Given the description of an element on the screen output the (x, y) to click on. 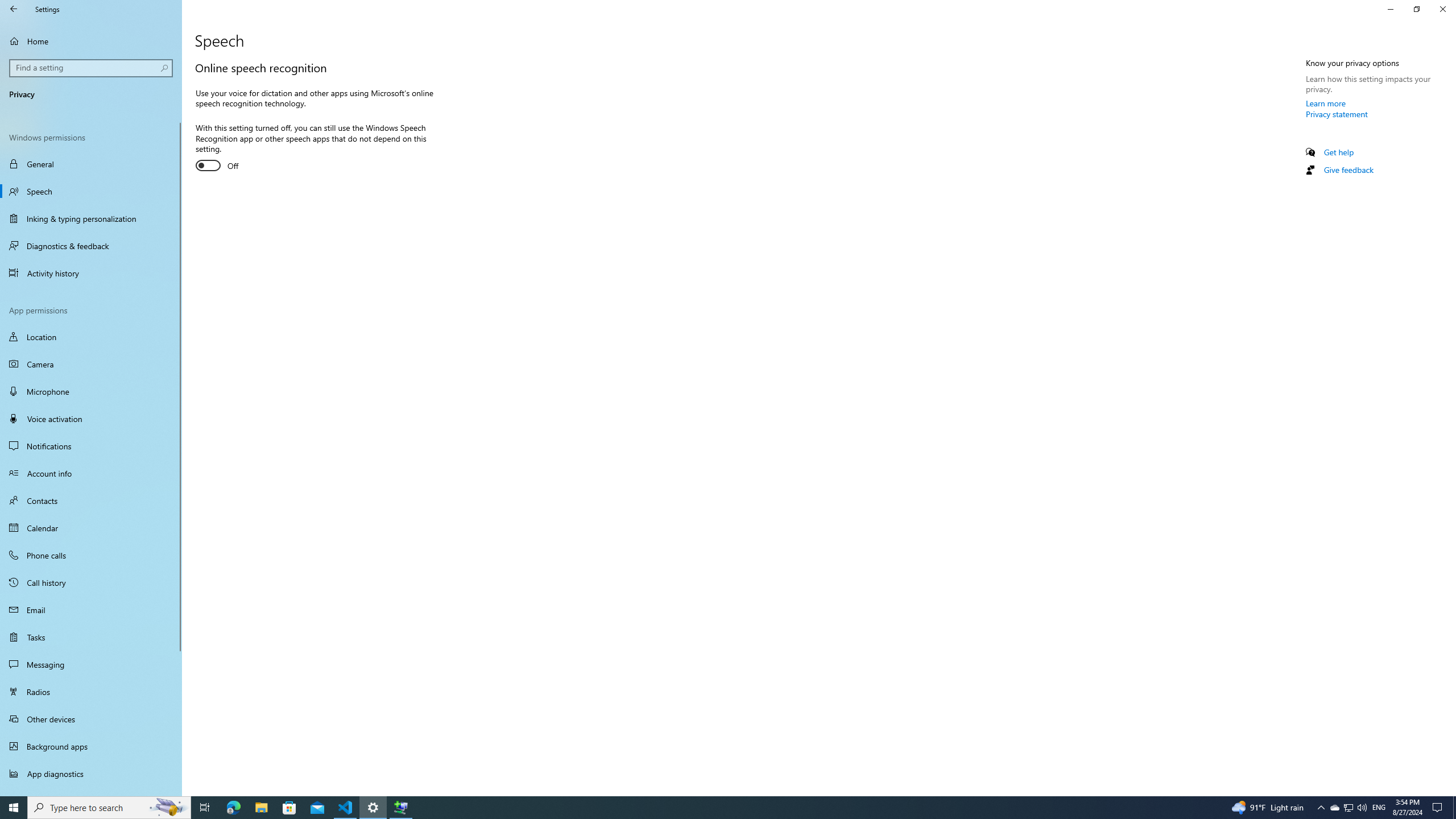
Activity history (91, 272)
Account info (91, 472)
Microphone (91, 390)
Learn more (1326, 102)
Location (91, 336)
Other devices (91, 718)
Messaging (91, 664)
Calendar (91, 527)
Inking & typing personalization (91, 217)
General (91, 163)
Camera (91, 363)
